Given the description of an element on the screen output the (x, y) to click on. 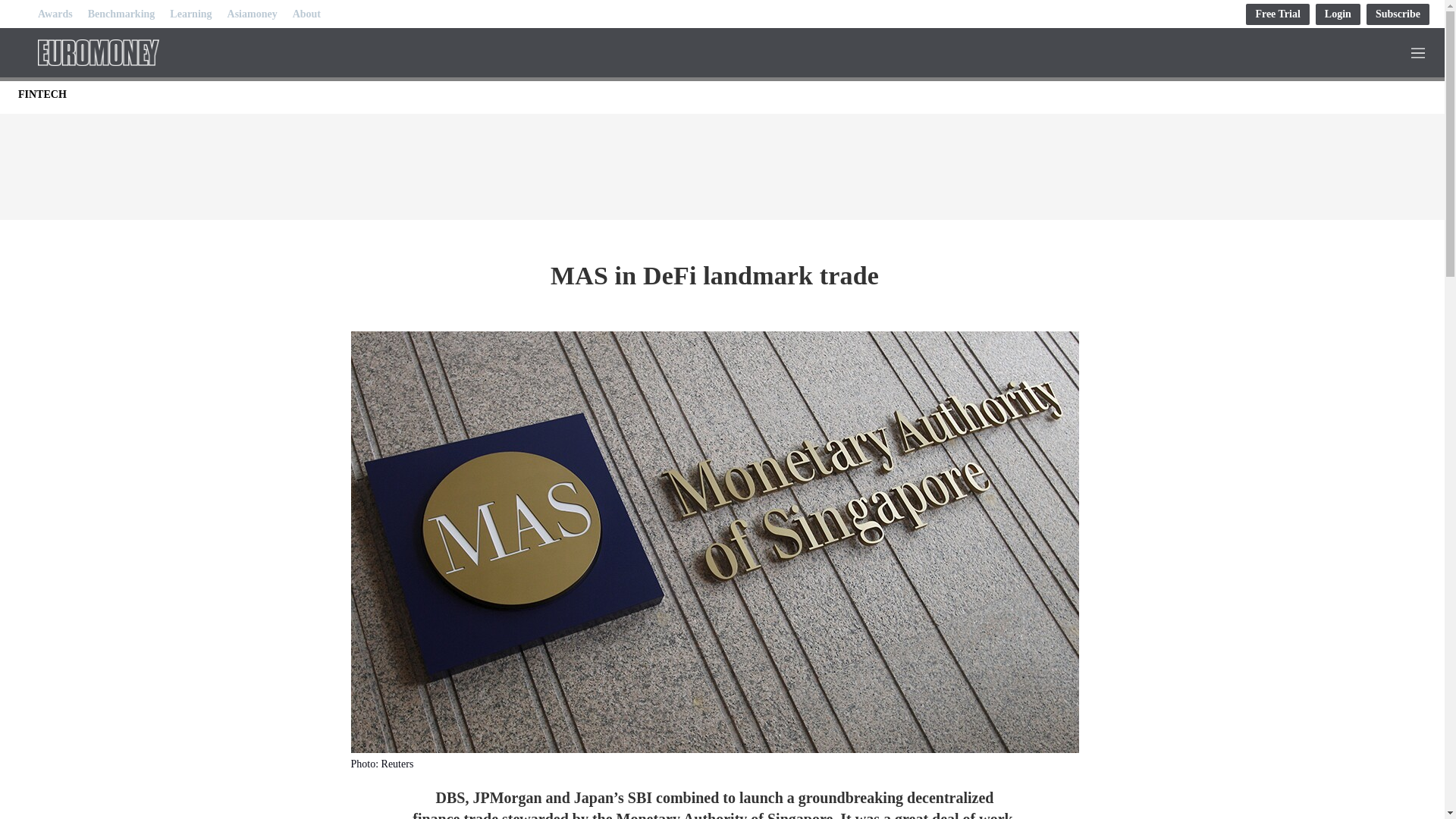
Learning (190, 13)
Free Trial (1277, 13)
Benchmarking (121, 13)
Login (1337, 13)
Asiamoney (252, 13)
Awards (54, 13)
About (306, 13)
Menu (1421, 52)
3rd party ad content (721, 162)
Subscribe (1398, 13)
